Given the description of an element on the screen output the (x, y) to click on. 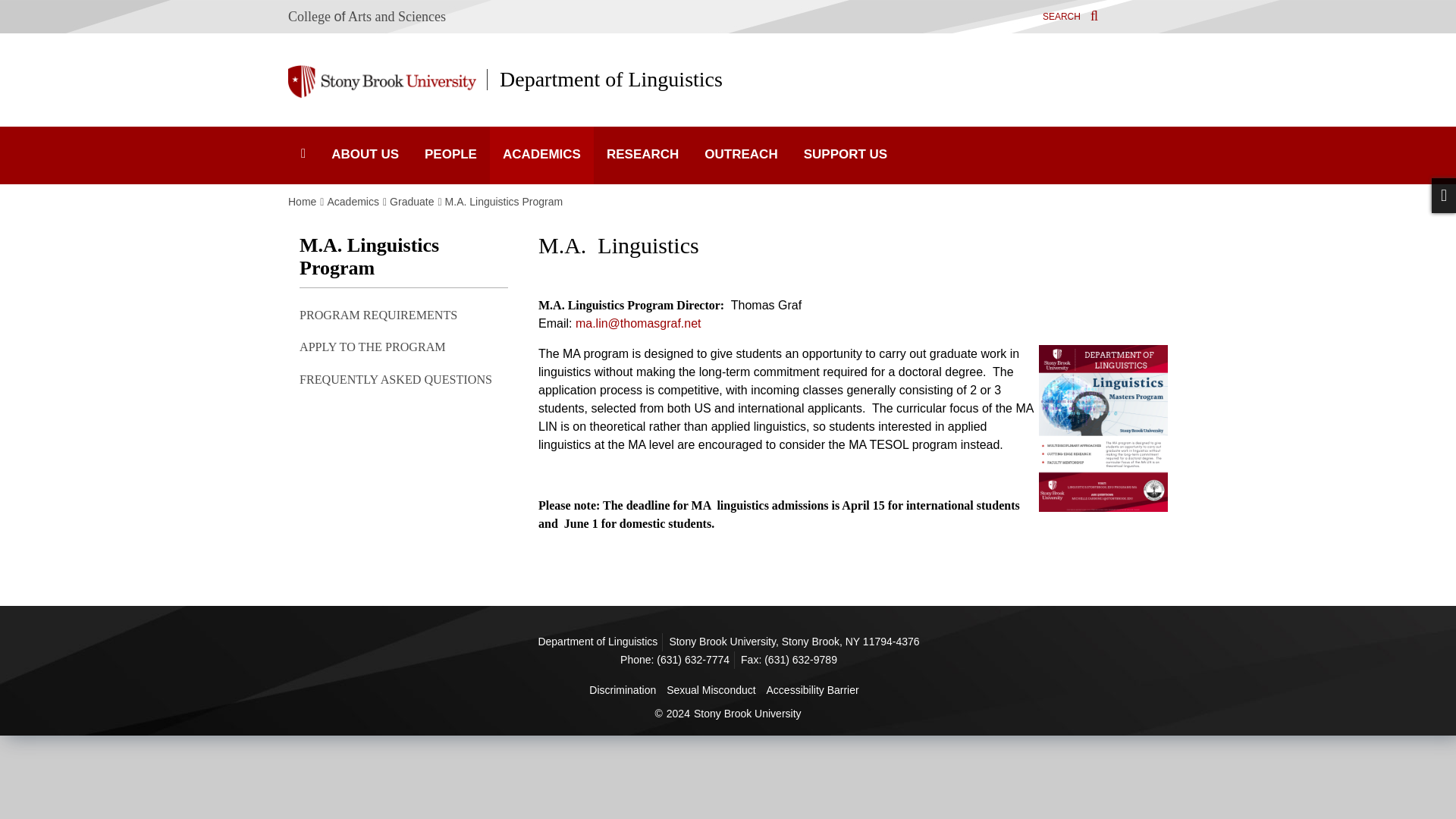
Search (1070, 15)
RESEARCH (642, 155)
PEOPLE (450, 155)
ACADEMICS (541, 155)
Department of Linguistics (604, 79)
College of Arts and Sciences (366, 17)
ABOUT US (365, 155)
OUTREACH (740, 155)
